Given the description of an element on the screen output the (x, y) to click on. 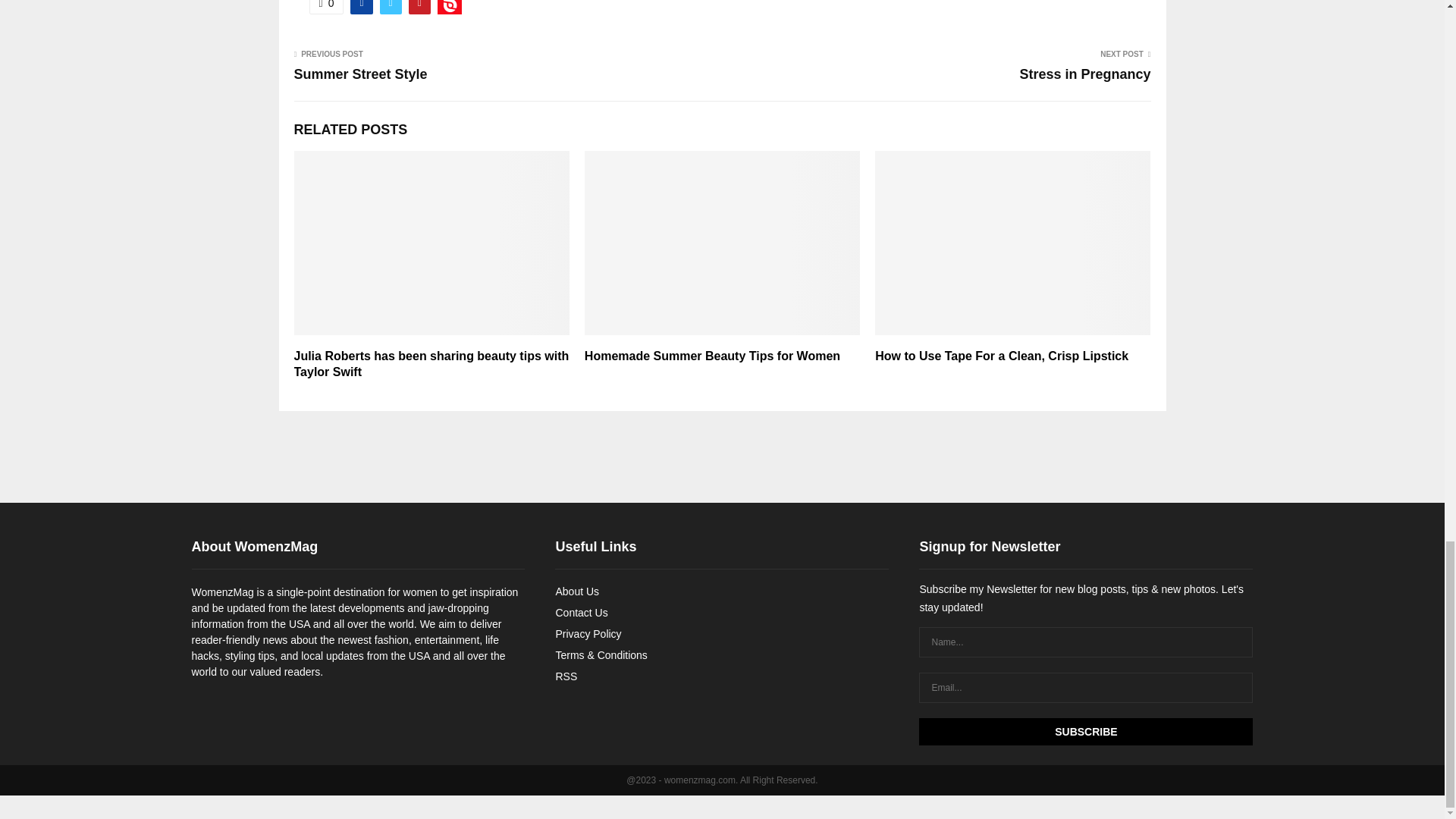
Like (325, 6)
Subscribe (1085, 731)
Summer Street Style (361, 73)
0 (325, 6)
Homemade Summer Beauty Tips for Women (712, 355)
How to Use Tape For a Clean, Crisp Lipstick (1001, 355)
Stress in Pregnancy (1084, 73)
Julia Roberts has been sharing beauty tips with Taylor Swift (431, 363)
